Given the description of an element on the screen output the (x, y) to click on. 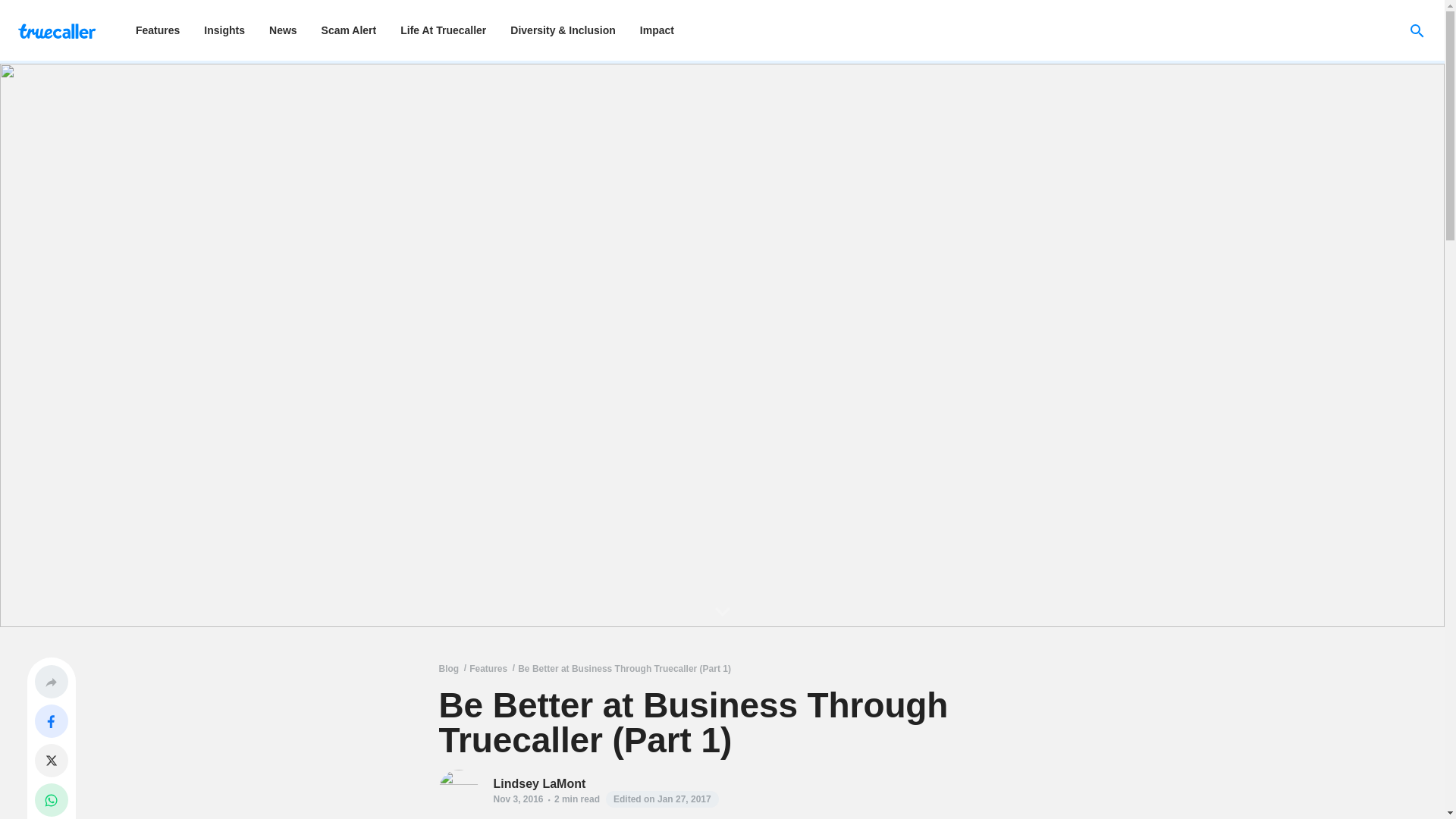
Insights (224, 30)
Impact (656, 30)
Life At Truecaller (442, 30)
Features (487, 668)
Lindsey LaMont (605, 783)
Blog (448, 668)
Features (157, 30)
News (282, 30)
Scam Alert (348, 30)
